Given the description of an element on the screen output the (x, y) to click on. 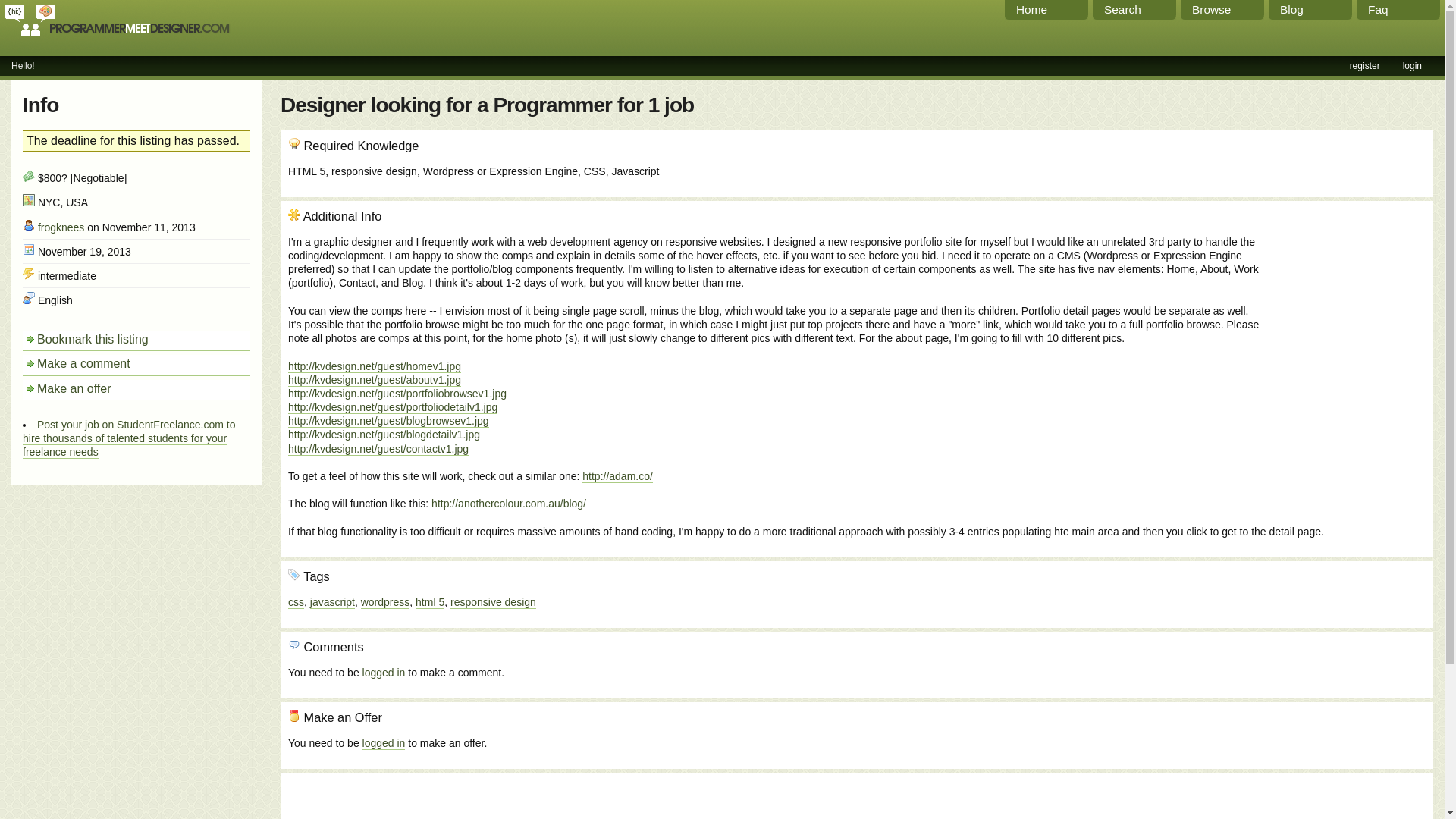
Search (1134, 9)
Skill Level (28, 273)
Spoken Language (28, 297)
Faq (1397, 9)
responsive design (492, 602)
Make an offer (136, 390)
html 5 (429, 602)
Bookmark this listing (136, 340)
logged in (384, 743)
Make a comment (136, 364)
logged in (384, 672)
register (1364, 65)
Blog (1310, 9)
Browse (1221, 9)
javascript (332, 602)
